Given the description of an element on the screen output the (x, y) to click on. 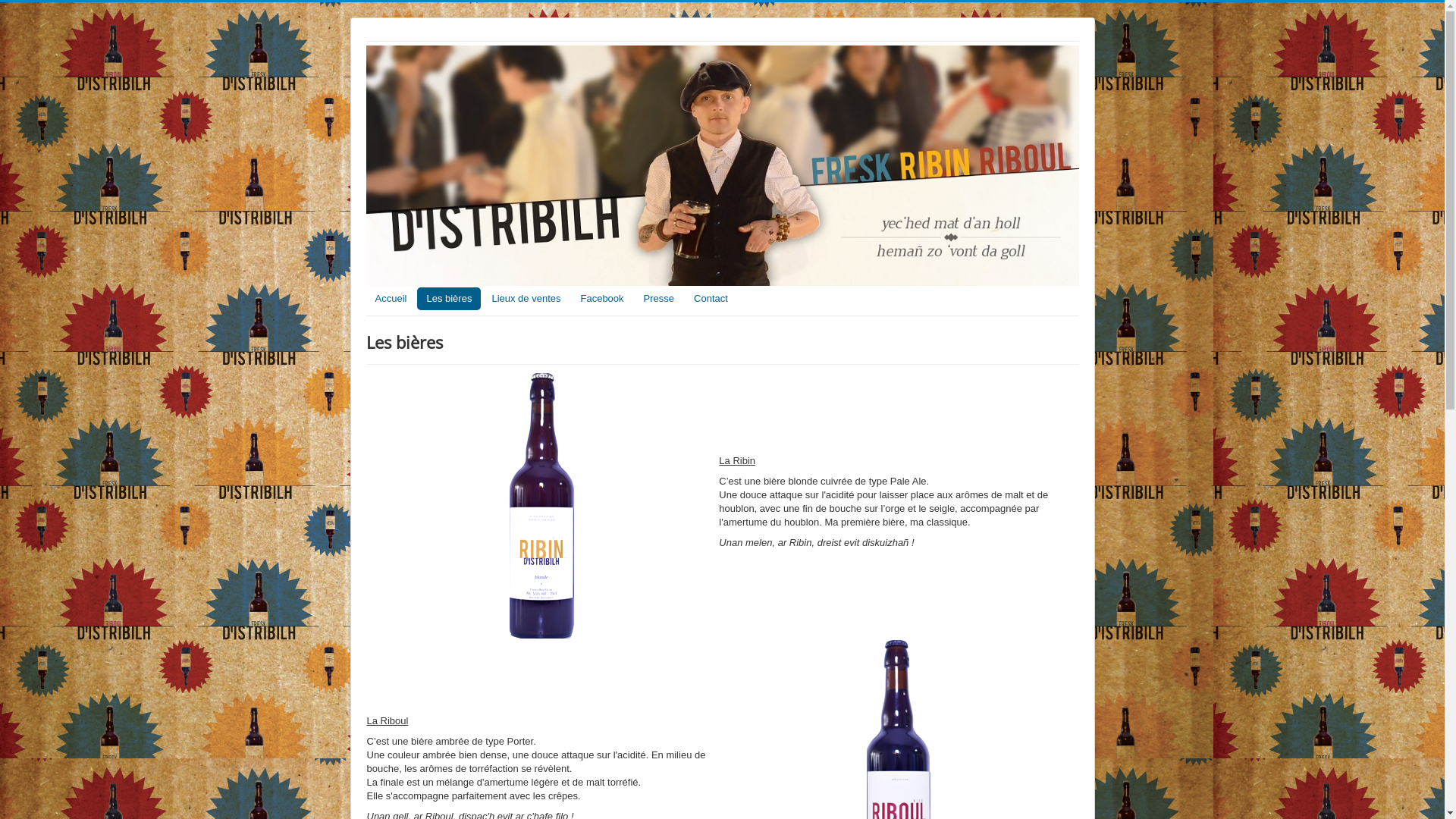
Presse Element type: text (658, 298)
Accueil Element type: text (390, 298)
Contact Element type: text (710, 298)
Lieux de ventes Element type: text (525, 298)
Facebook Element type: text (601, 298)
